Given the description of an element on the screen output the (x, y) to click on. 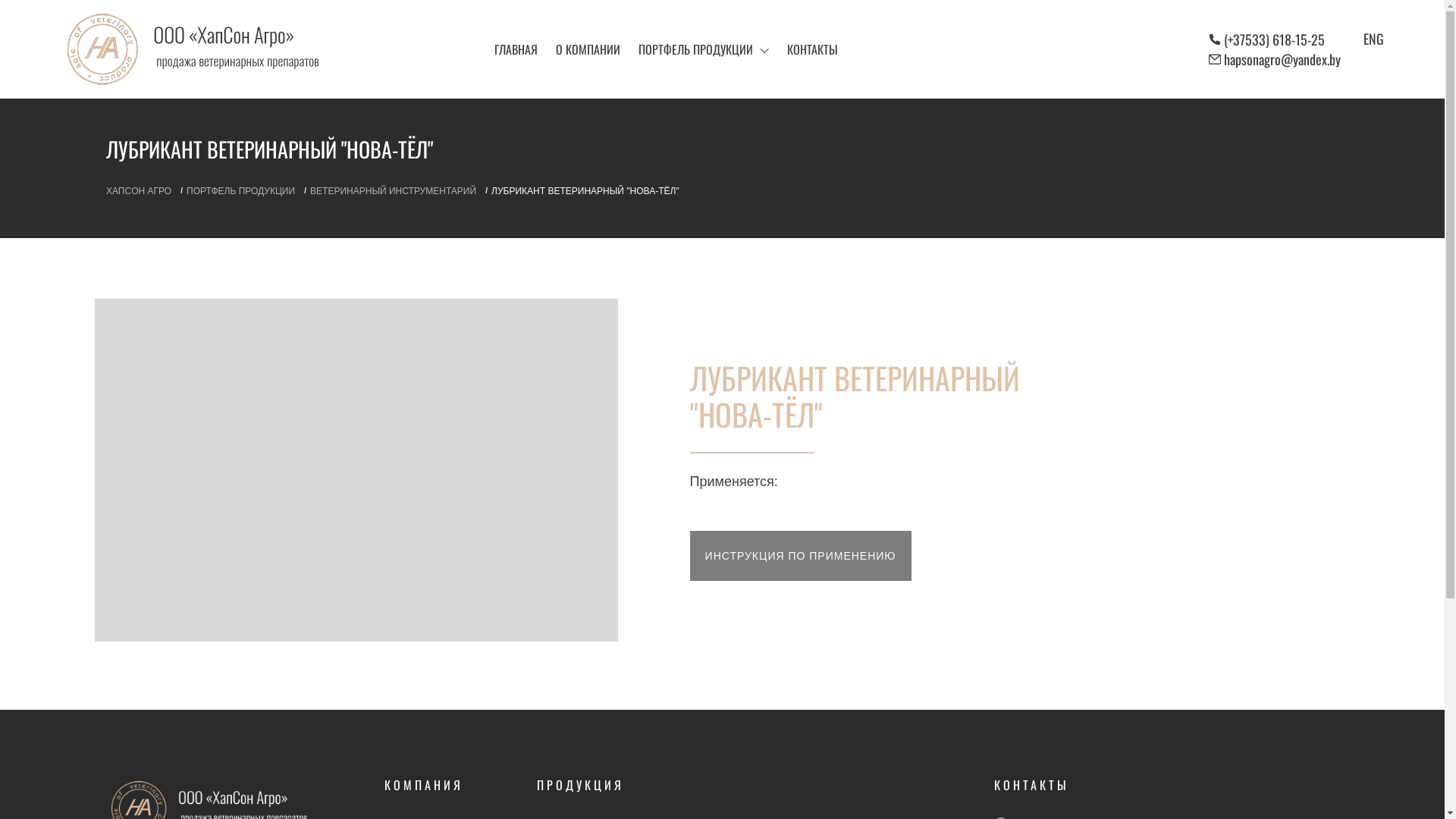
hapsonagro@yandex.by Element type: text (1281, 59)
(+37533) 618-15-25 Element type: text (1273, 39)
ENG Element type: text (1373, 38)
